Given the description of an element on the screen output the (x, y) to click on. 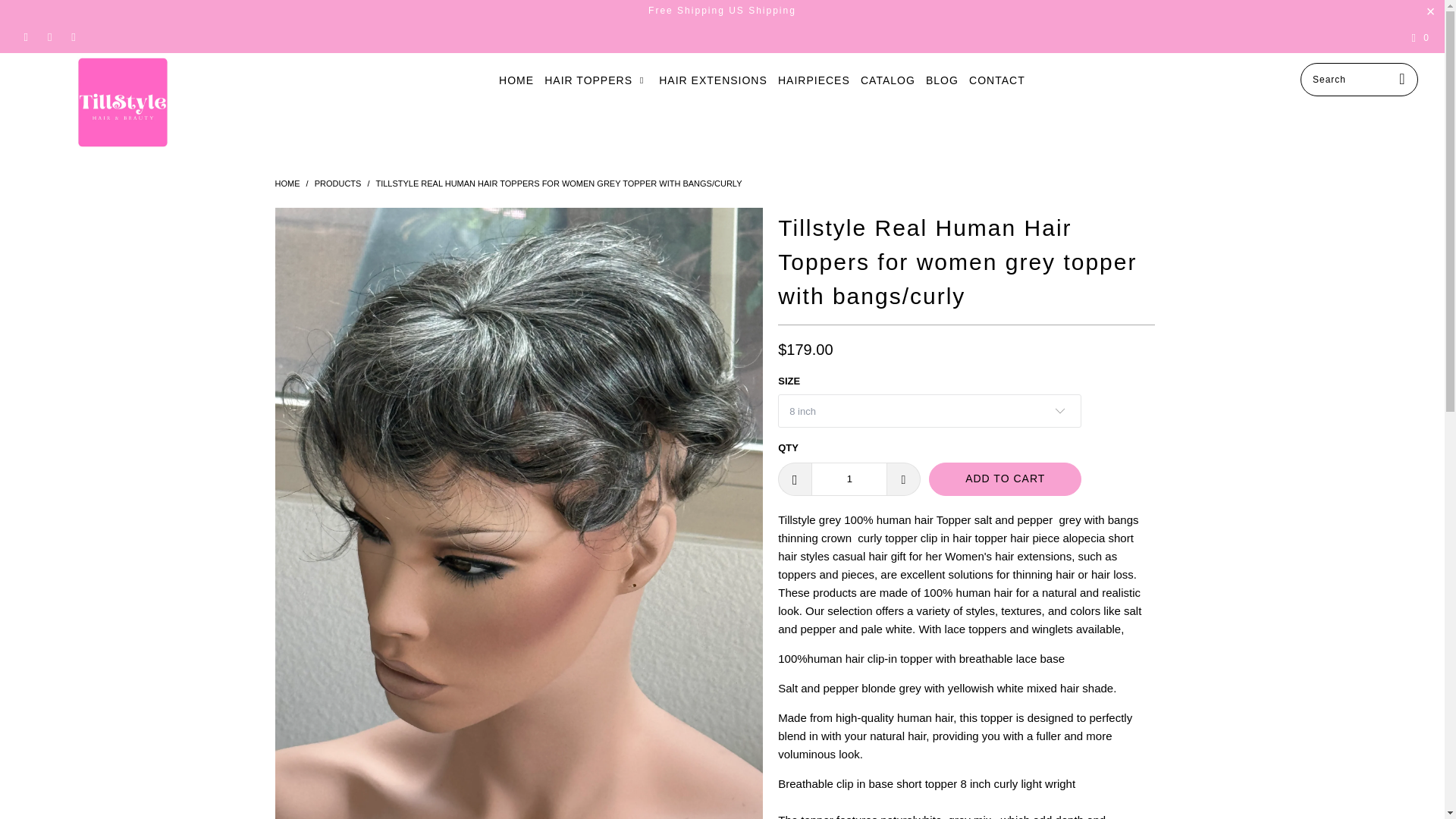
HAIR EXTENSIONS (713, 80)
HAIRPIECES (813, 80)
1 (848, 479)
HAIR TOPPERS (595, 80)
tillstyle on Facebook (25, 37)
HOME (516, 80)
tillstyle (287, 183)
HOME (287, 183)
CATALOG (887, 80)
tillstyle on YouTube (48, 37)
Products (337, 183)
tillstyle (122, 102)
CONTACT (997, 80)
tillstyle on Instagram (73, 37)
